Given the description of an element on the screen output the (x, y) to click on. 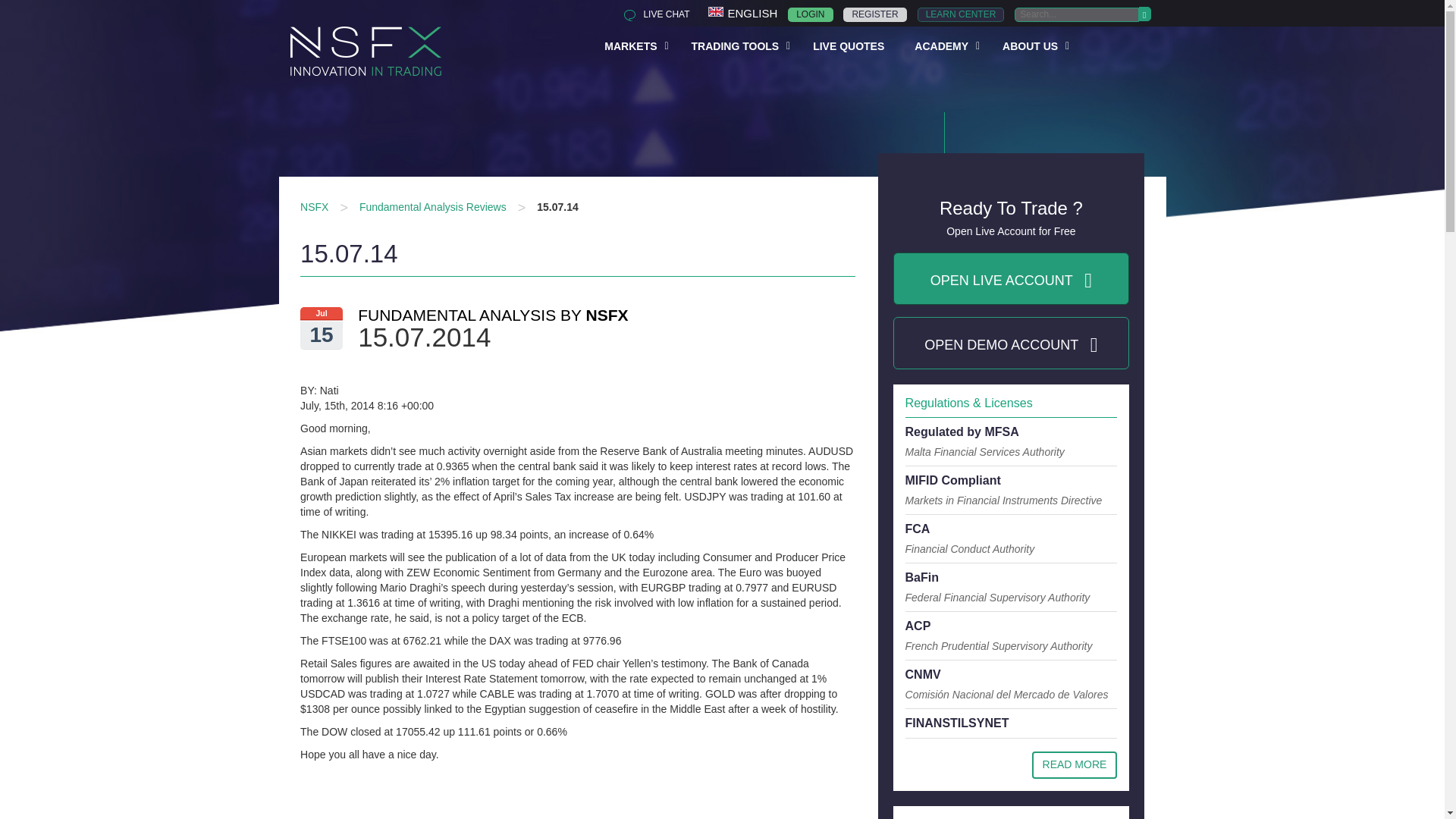
Regulations and Licenses (1075, 764)
Fundamental Analysis Reviews (432, 206)
15.07.14 (557, 206)
LEARN CENTER (833, 74)
MARKETS (960, 14)
NSFX (632, 44)
TRADING TOOLS (314, 206)
REGISTER (737, 44)
Live Chat with our Forex Trading Pro's (874, 14)
LOGIN (652, 14)
LIVE CHAT (809, 14)
